Given the description of an element on the screen output the (x, y) to click on. 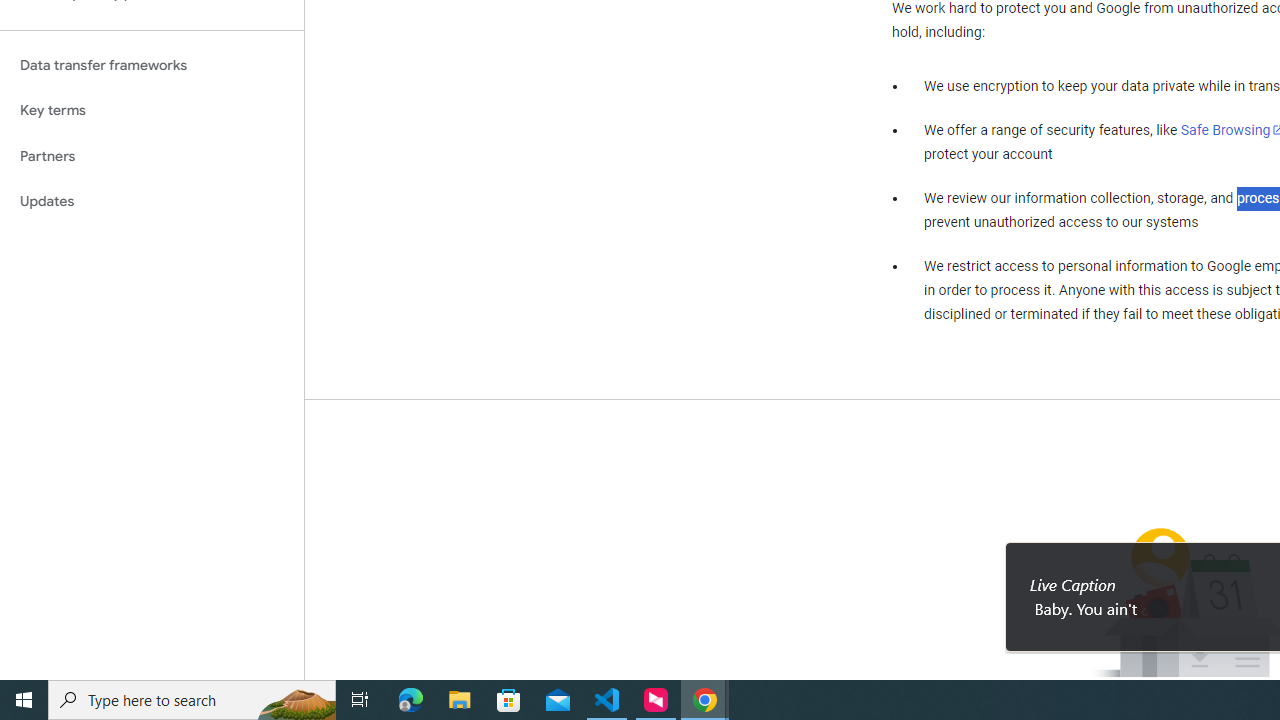
Partners (152, 156)
Data transfer frameworks (152, 65)
Updates (152, 201)
Key terms (152, 110)
